Given the description of an element on the screen output the (x, y) to click on. 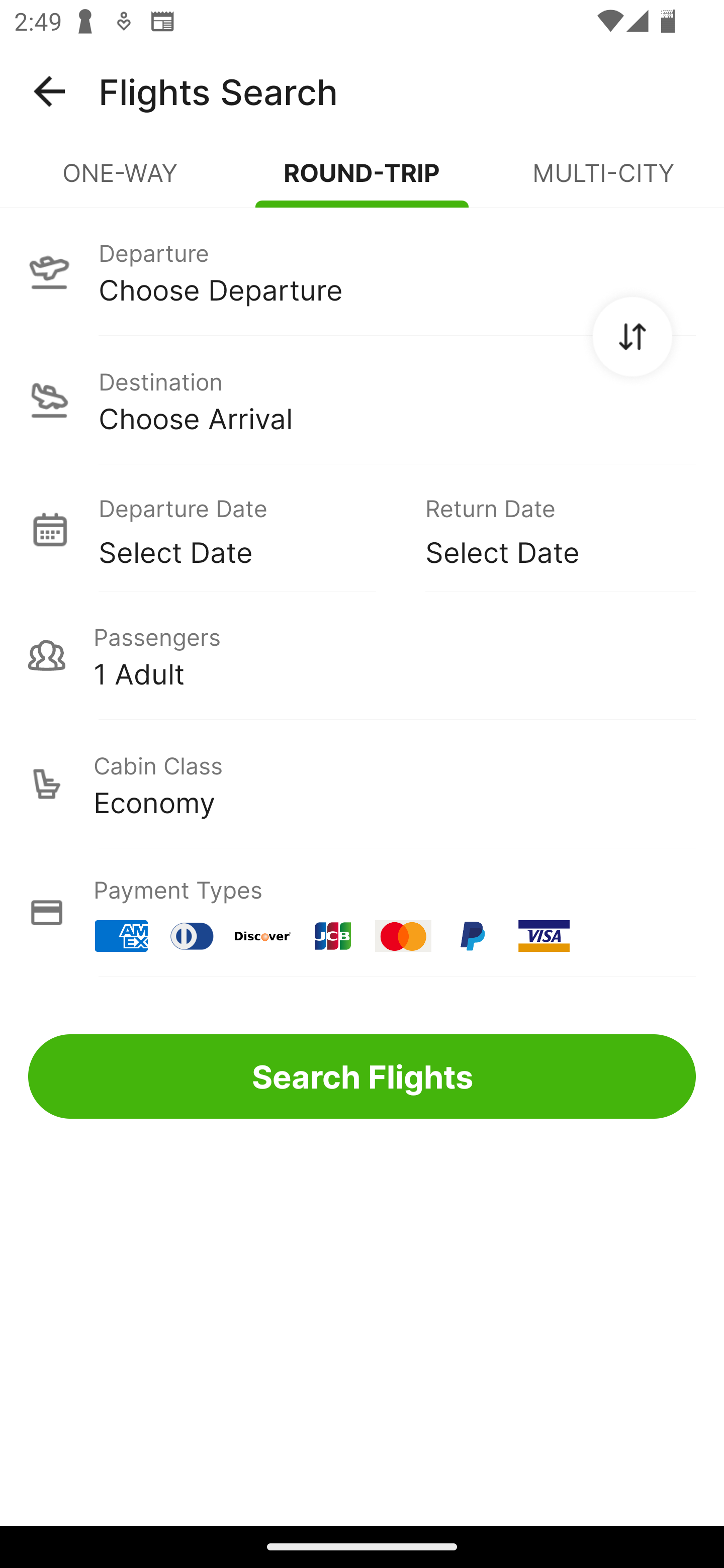
ONE-WAY (120, 180)
ROUND-TRIP (361, 180)
MULTI-CITY (603, 180)
Departure Choose Departure (362, 270)
Destination Choose Arrival (362, 400)
Departure Date Select Date (247, 528)
Return Date Select Date (546, 528)
Passengers 1 Adult (362, 655)
Cabin Class Economy (362, 783)
Payment Types (362, 912)
Search Flights (361, 1075)
